Given the description of an element on the screen output the (x, y) to click on. 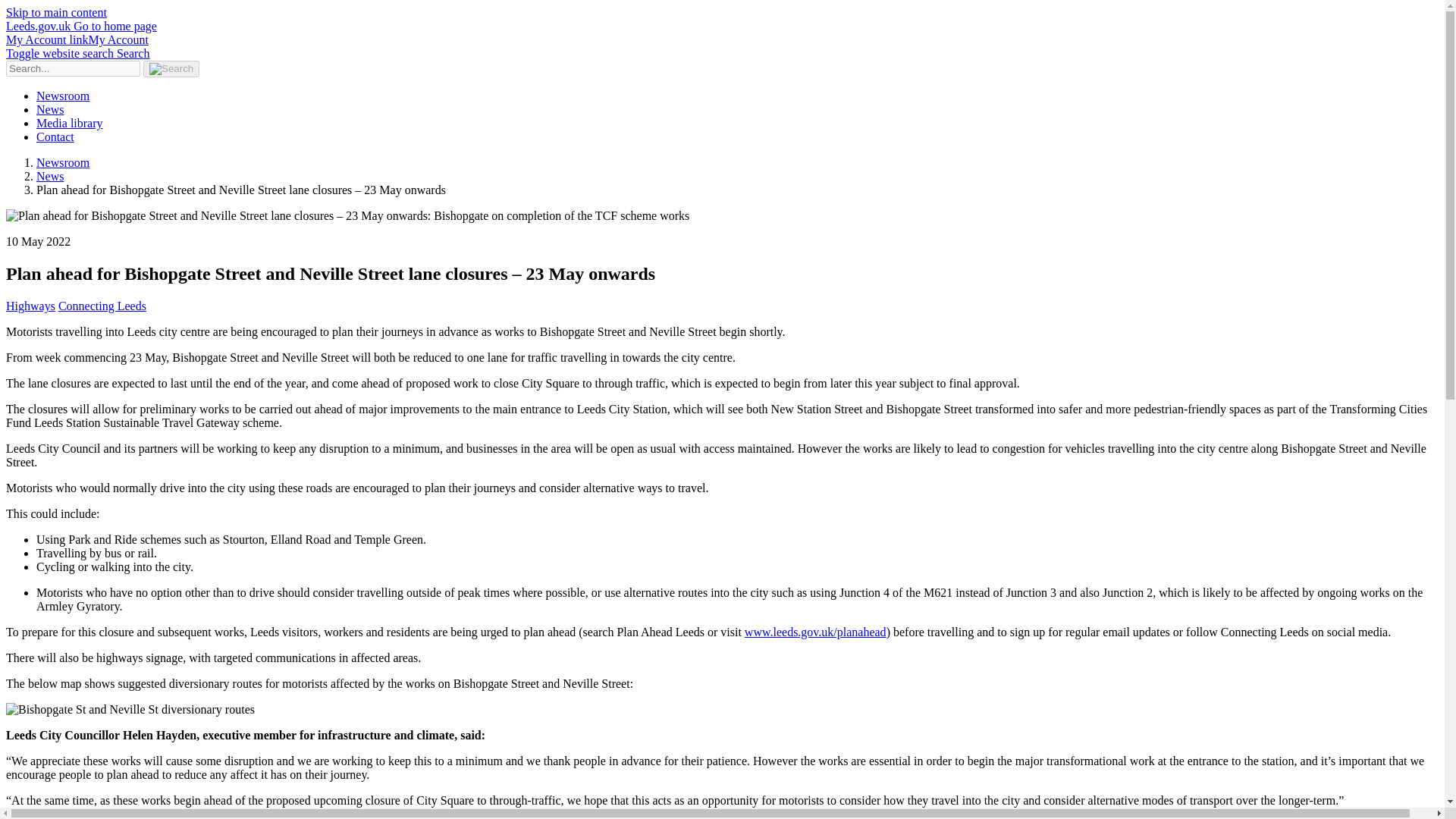
News (50, 109)
Highways (30, 305)
Contact (55, 136)
Connecting Leeds (102, 305)
My Account linkMy Account (76, 39)
Toggle website search (77, 52)
News (50, 175)
Newsroom (62, 162)
Skip to main content (55, 11)
Toggle website search Search (77, 52)
